Given the description of an element on the screen output the (x, y) to click on. 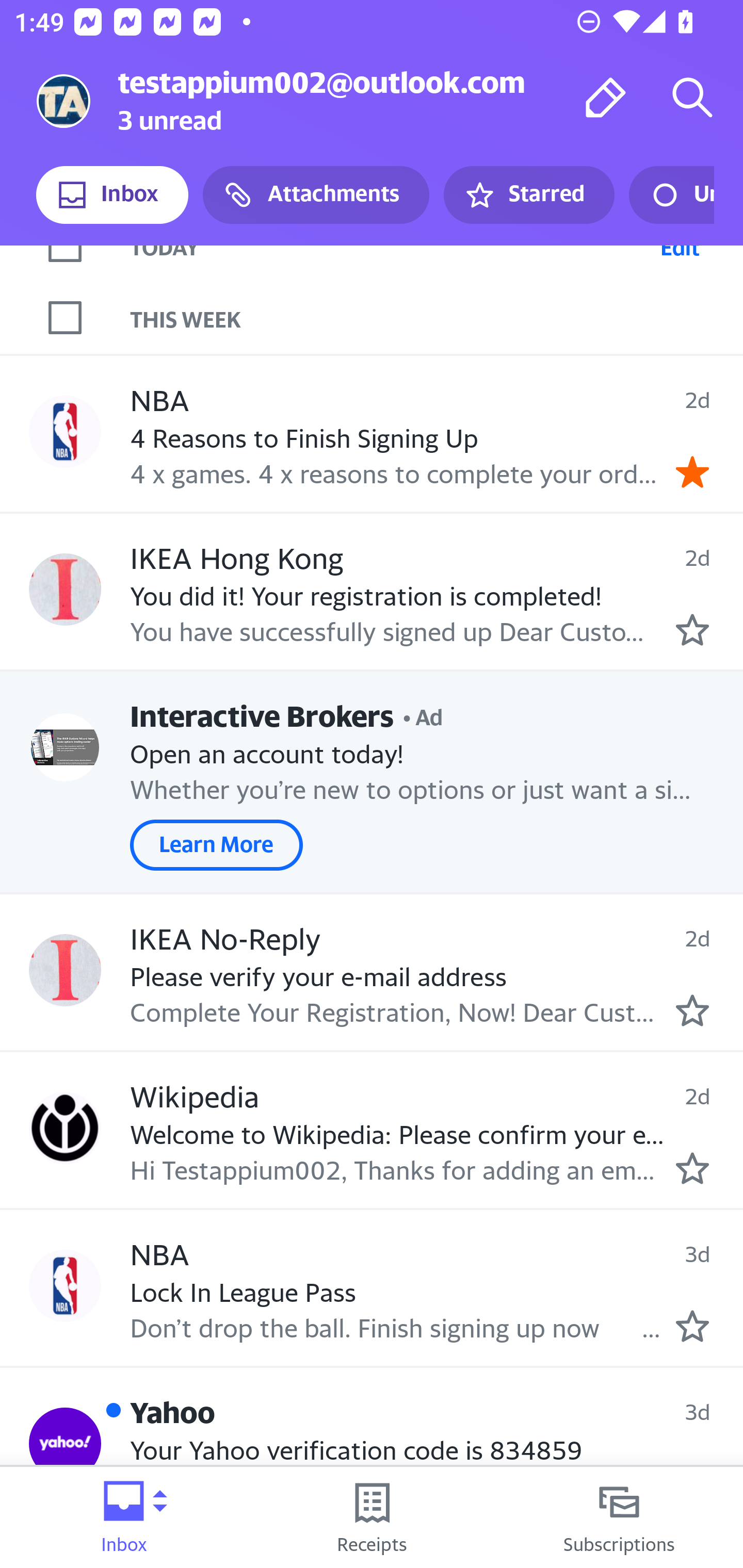
Compose (605, 97)
Search mail (692, 97)
Attachments (315, 195)
Starred (528, 195)
THIS WEEK (436, 317)
Profile
NBA (64, 431)
Remove star. (692, 471)
Profile
IKEA Hong Kong (64, 589)
Mark as starred. (692, 629)
Profile
IKEA No-Reply (64, 970)
Mark as starred. (692, 1010)
Profile
Wikipedia (64, 1127)
Mark as starred. (692, 1168)
Profile
NBA (64, 1285)
Mark as starred. (692, 1325)
Profile
Yahoo (64, 1444)
Inbox Folder picker (123, 1517)
Receipts (371, 1517)
Subscriptions (619, 1517)
